Given the description of an element on the screen output the (x, y) to click on. 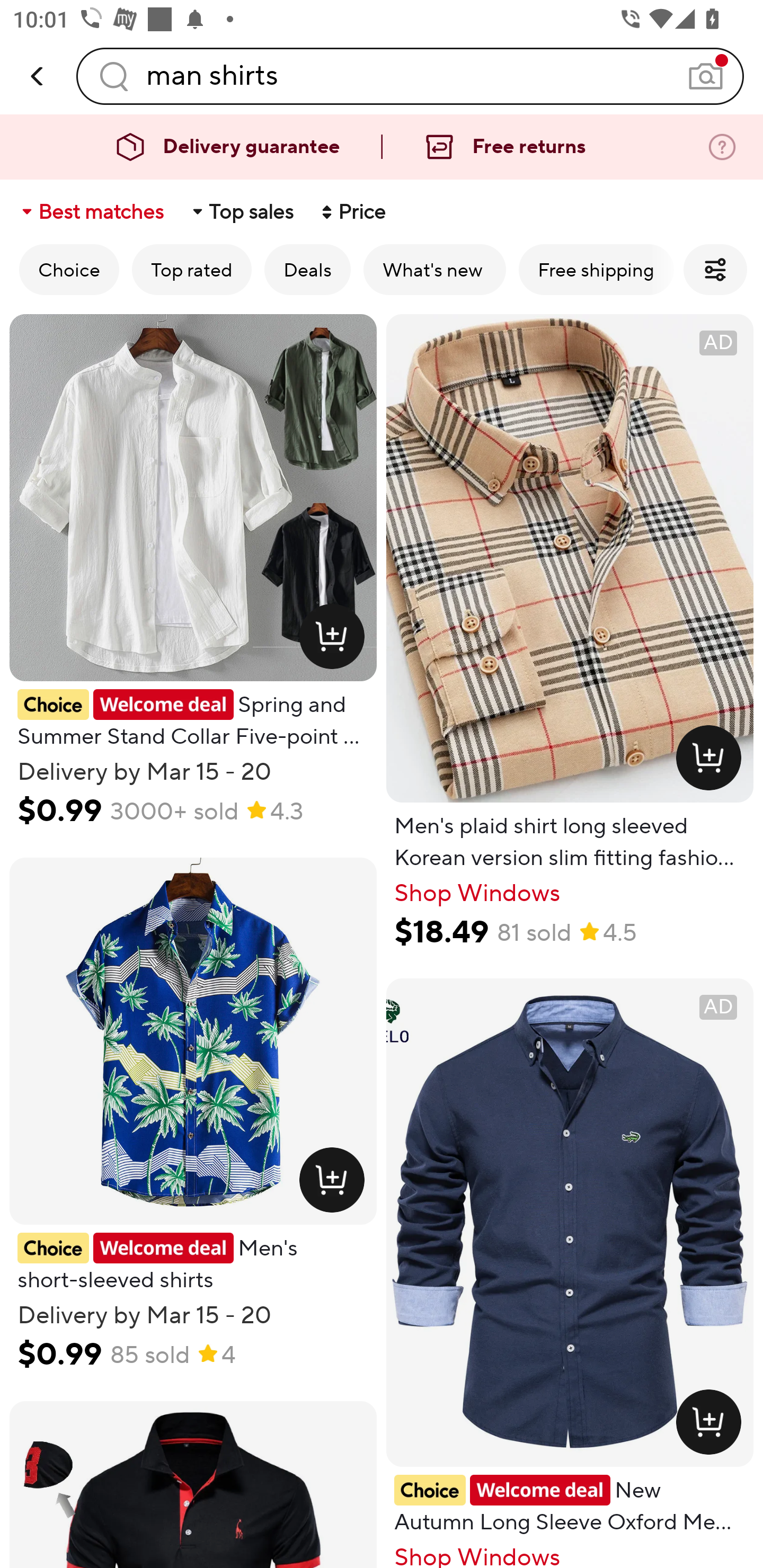
back (38, 75)
man shirts Search query (409, 76)
man shirts Search query (409, 76)
Best matches (91, 212)
Top sales (241, 212)
Price (352, 212)
Choice (69, 269)
Top rated (191, 269)
Deals (307, 269)
What's new  (434, 269)
Free shipping (595, 269)
